Given the description of an element on the screen output the (x, y) to click on. 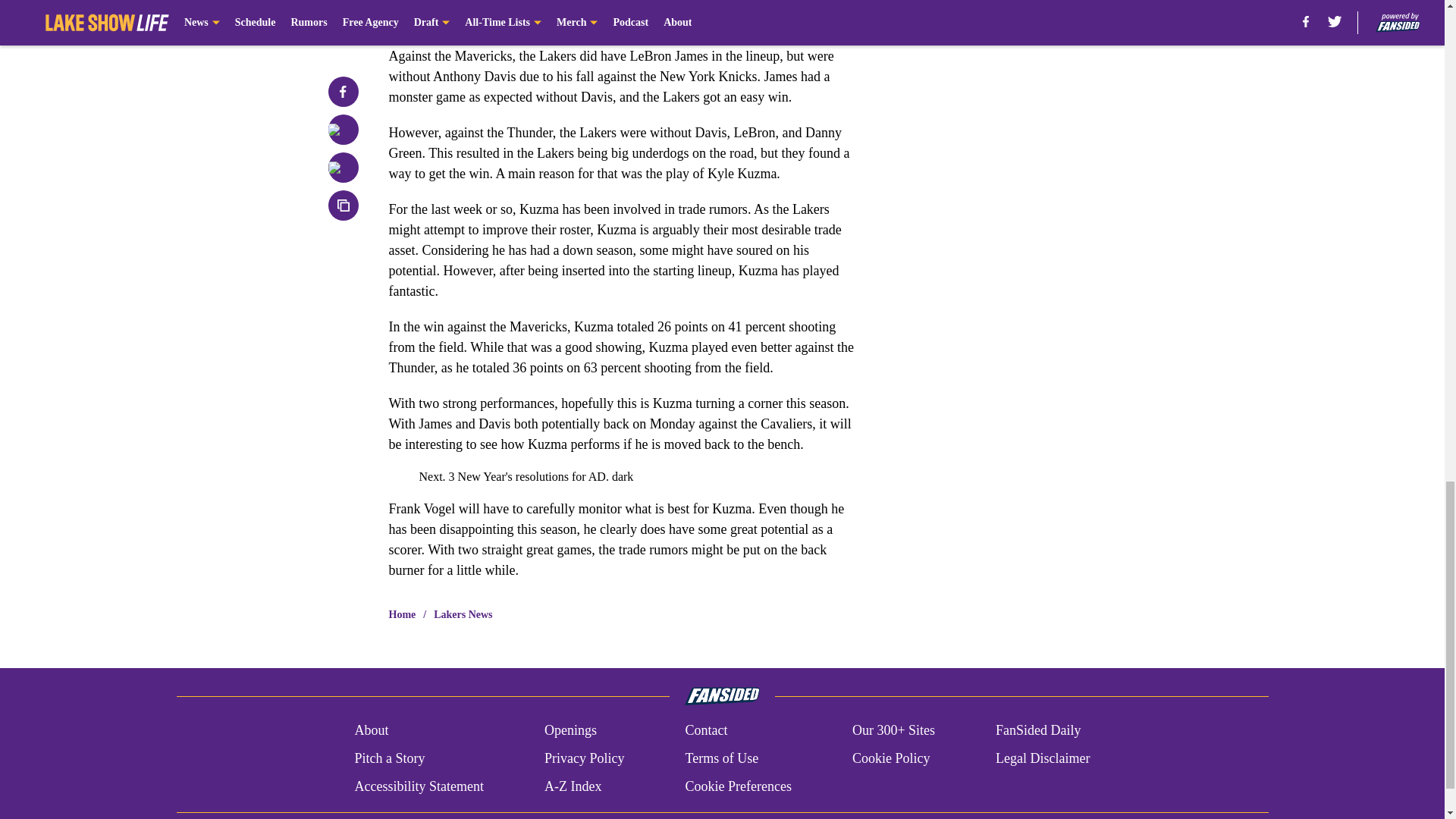
Lakers News (462, 614)
Contact (705, 730)
About (370, 730)
Home (401, 614)
Openings (570, 730)
